Given the description of an element on the screen output the (x, y) to click on. 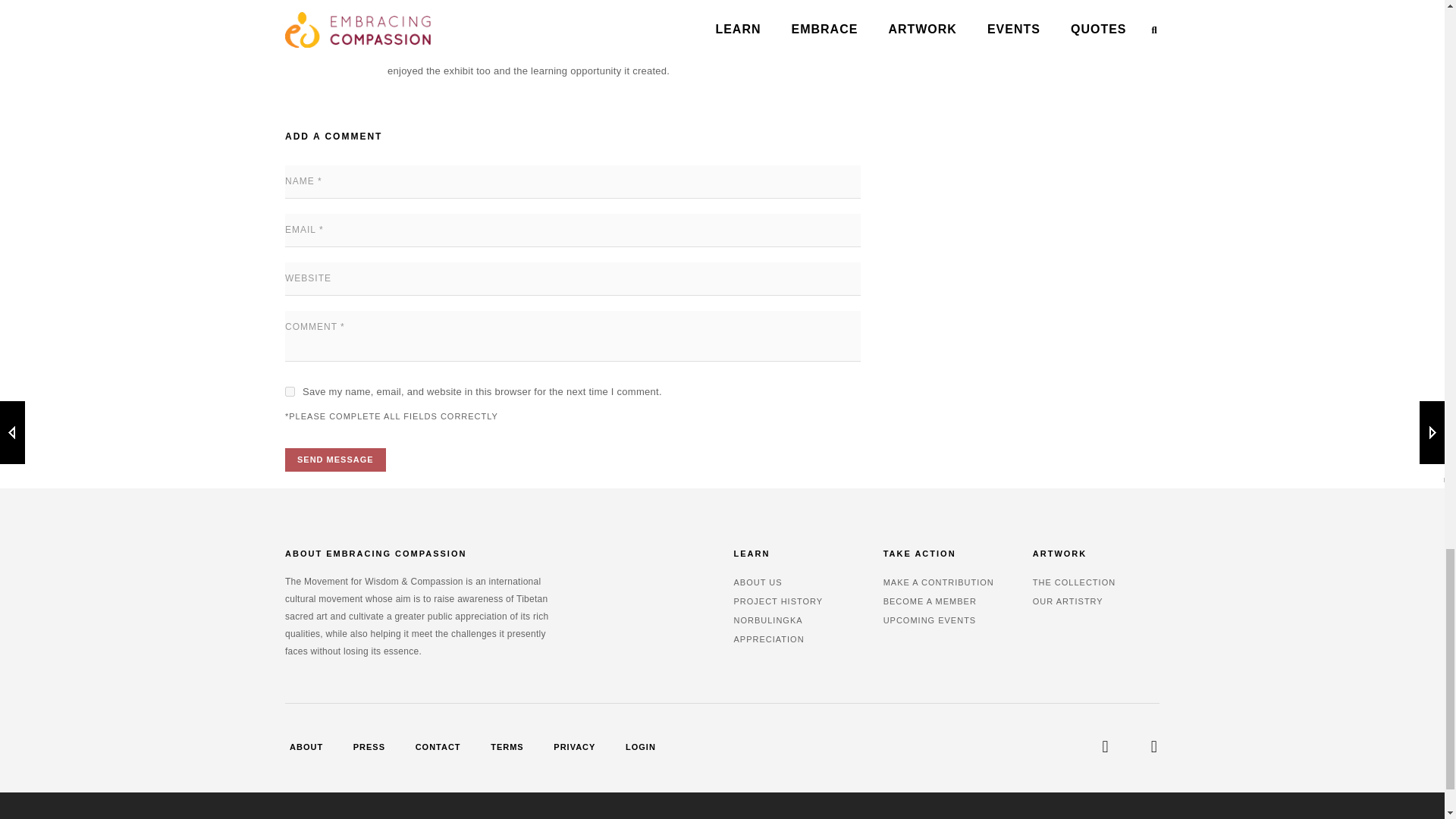
JUAN MORALES, (433, 16)
REPLY (595, 16)
ABOUT US (757, 582)
send message (335, 459)
yes (290, 391)
send message (335, 459)
